Given the description of an element on the screen output the (x, y) to click on. 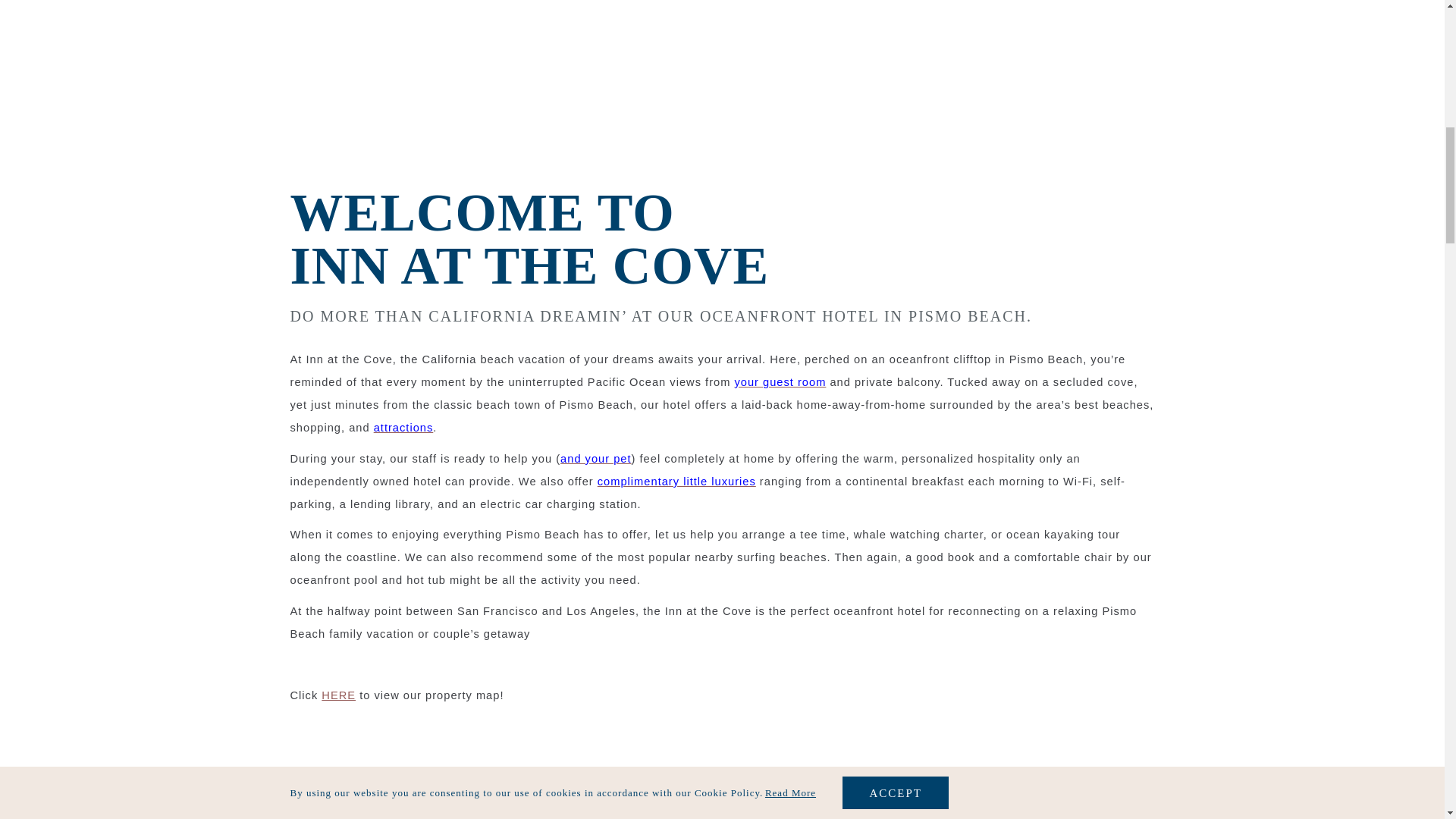
and your pet (595, 458)
HERE (338, 695)
Overview (869, 795)
your guest room (779, 381)
complimentary little luxuries (675, 481)
attractions (403, 427)
